Given the description of an element on the screen output the (x, y) to click on. 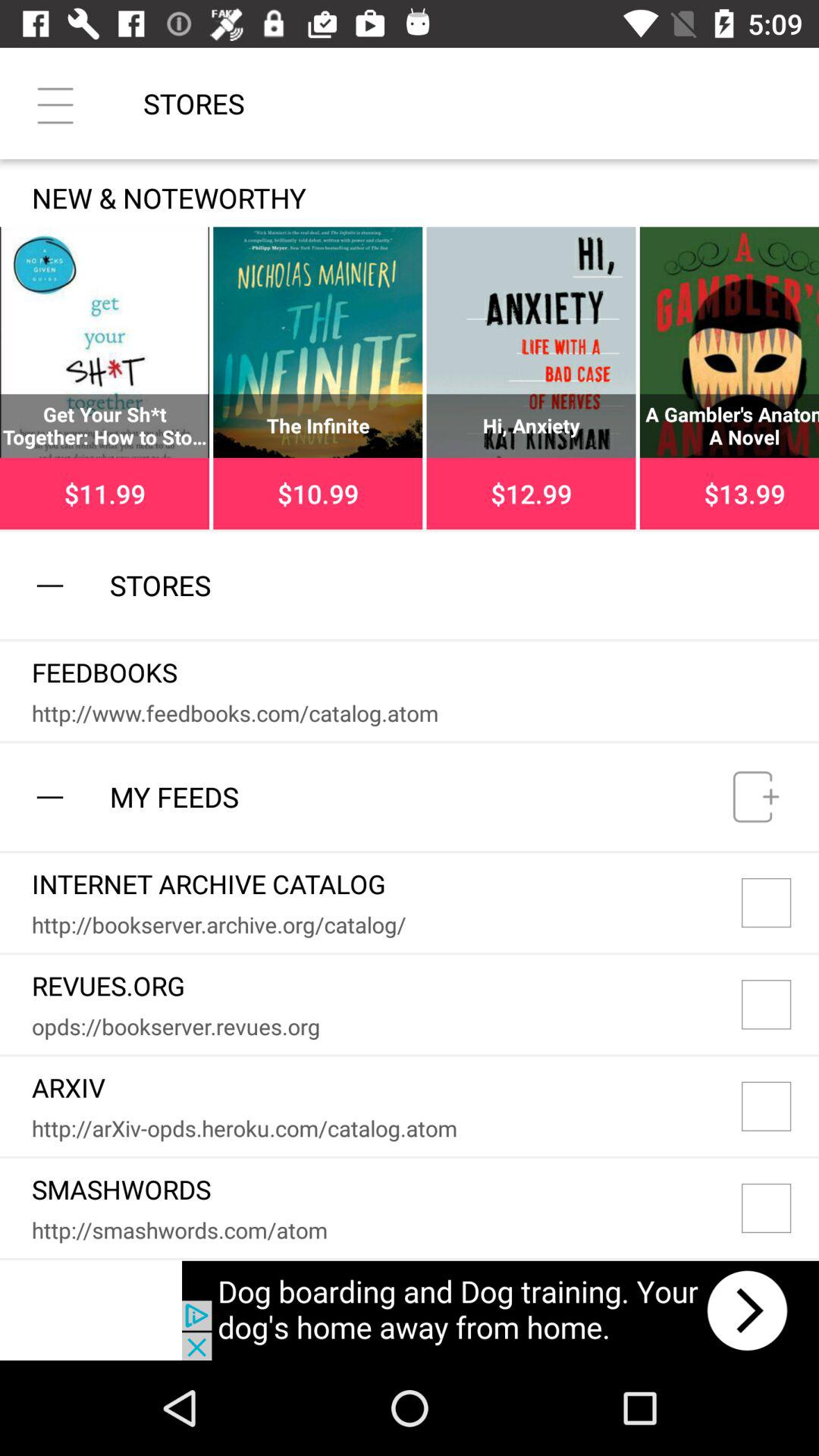
check the box (780, 1106)
